Given the description of an element on the screen output the (x, y) to click on. 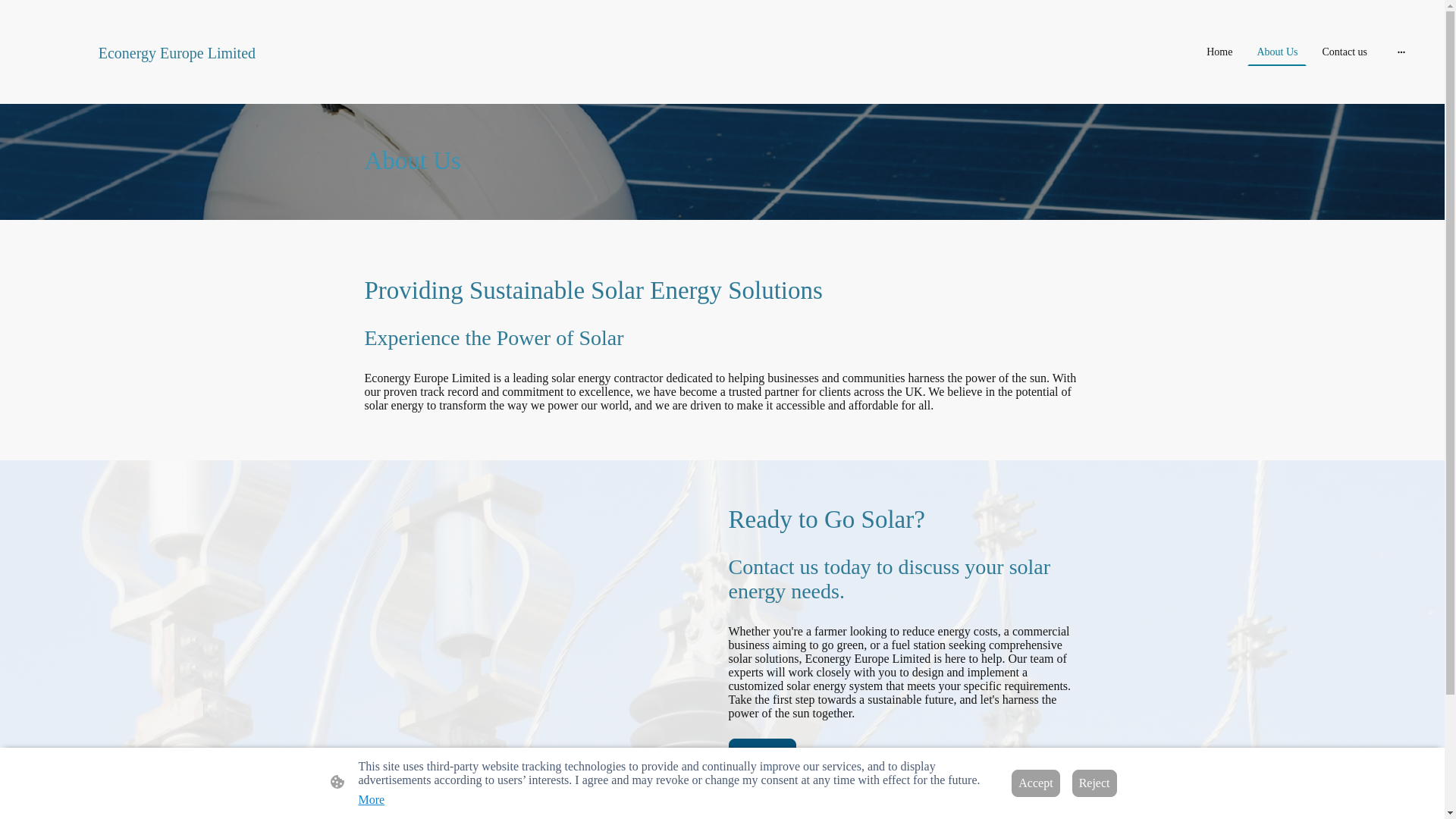
More (371, 799)
Reject (1093, 782)
Home (1219, 51)
Econergy Europe Limited (248, 50)
Econergy Europe Limited (248, 83)
Contact Us (762, 751)
Contact us (1344, 51)
Accept (1035, 782)
About Us (1276, 51)
